Given the description of an element on the screen output the (x, y) to click on. 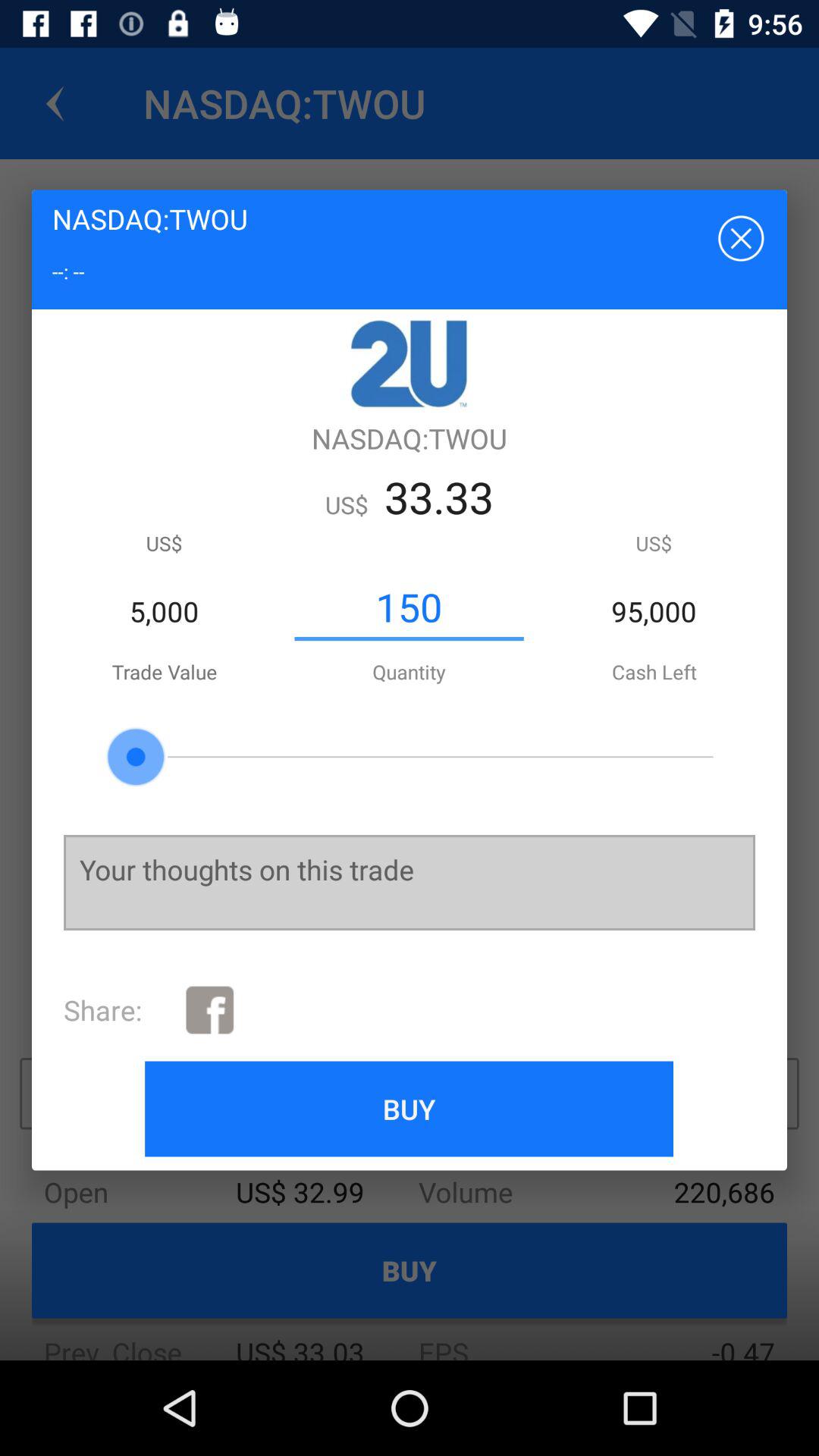
select item next to the nasdaq:twou item (739, 237)
